Given the description of an element on the screen output the (x, y) to click on. 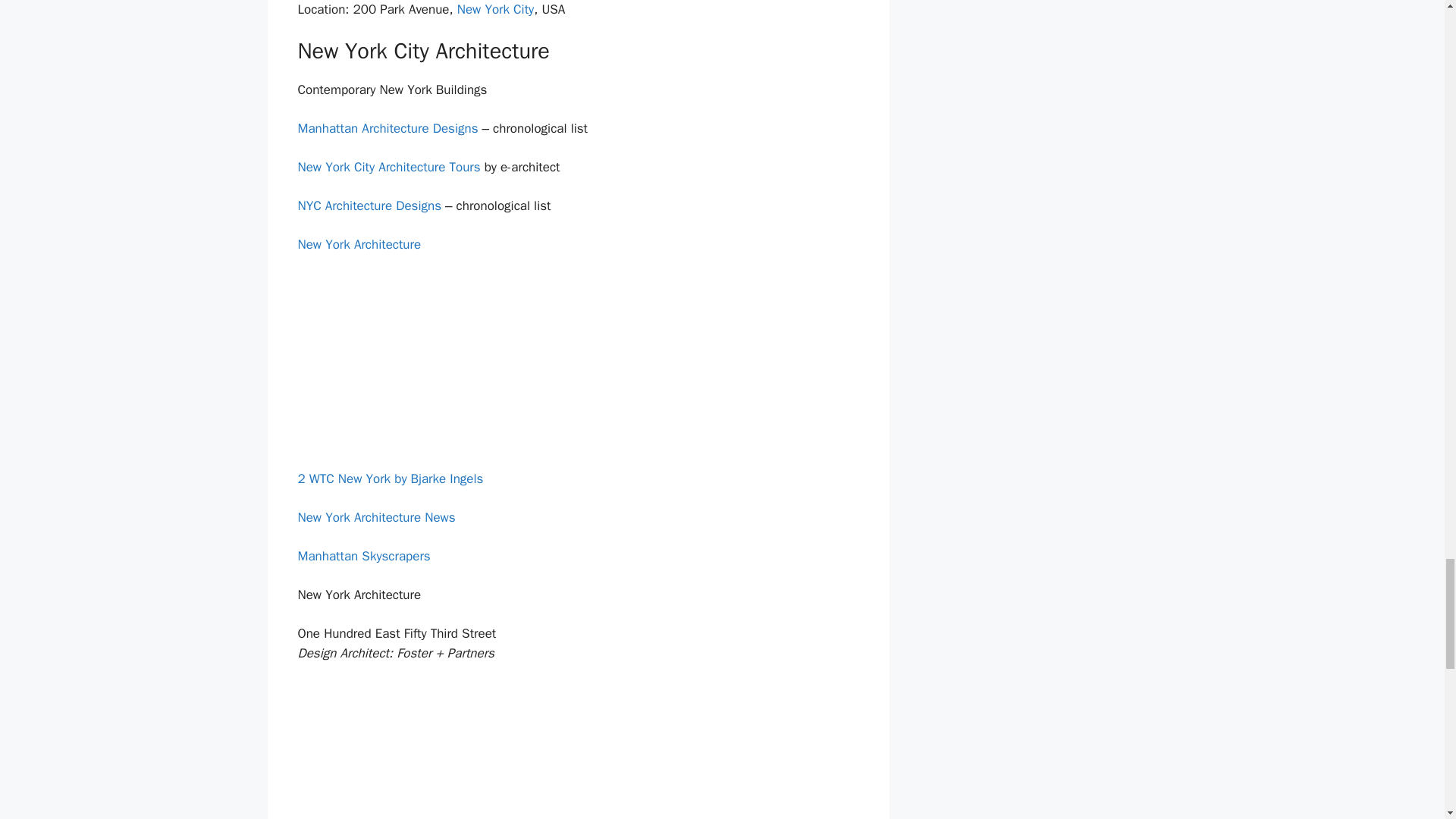
New York City (495, 9)
New York Architecture (358, 244)
Manhattan Architecture Designs (387, 128)
NYC Architecture Designs (369, 205)
New York City Architecture Tours (388, 166)
2 WTC New York by Bjarke Ingels (390, 478)
New York Architecture News (375, 517)
